Given the description of an element on the screen output the (x, y) to click on. 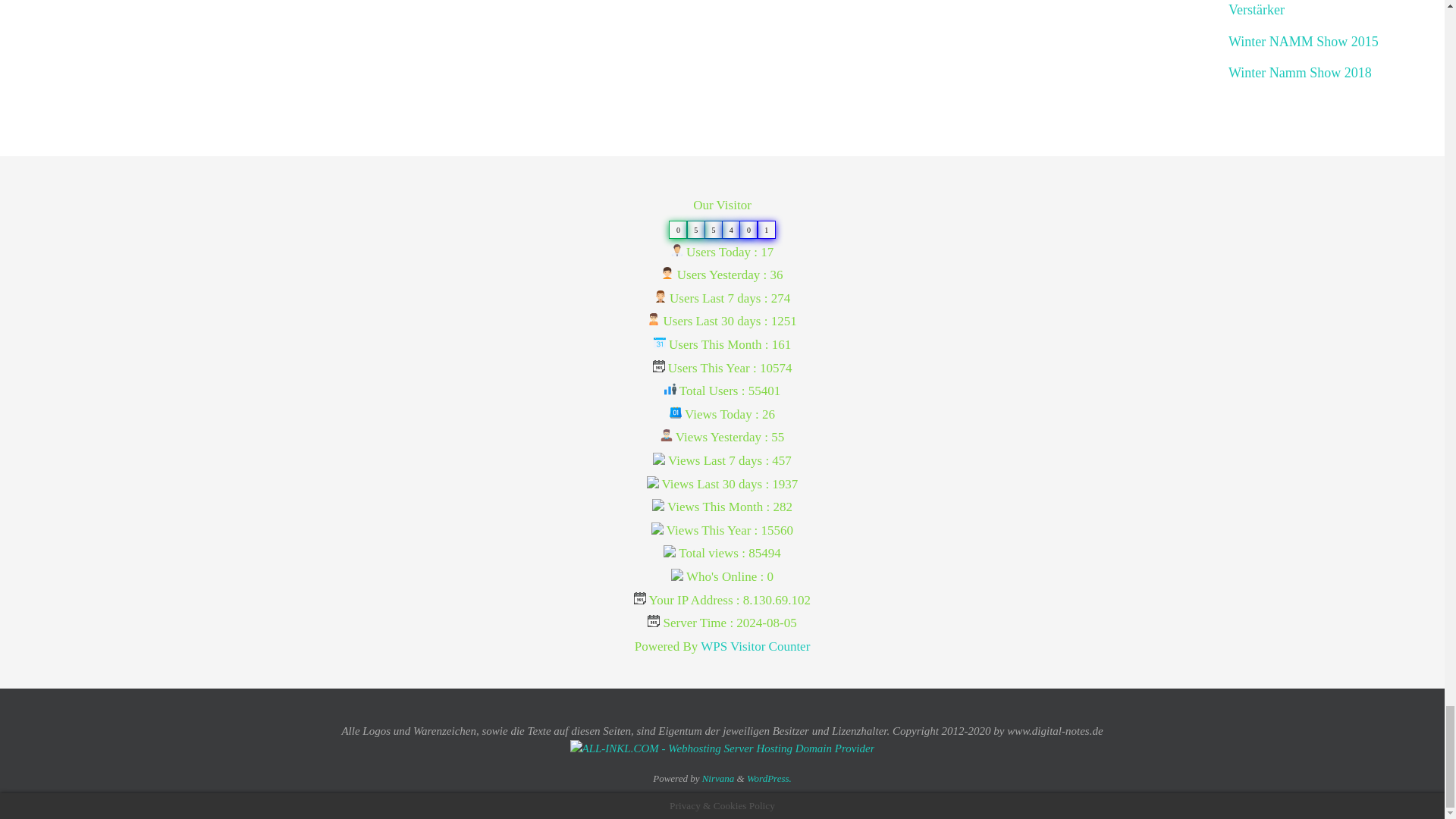
Nirvana Theme by Cryout Creations (718, 778)
Semantic Personal Publishing Platform (769, 778)
